Given the description of an element on the screen output the (x, y) to click on. 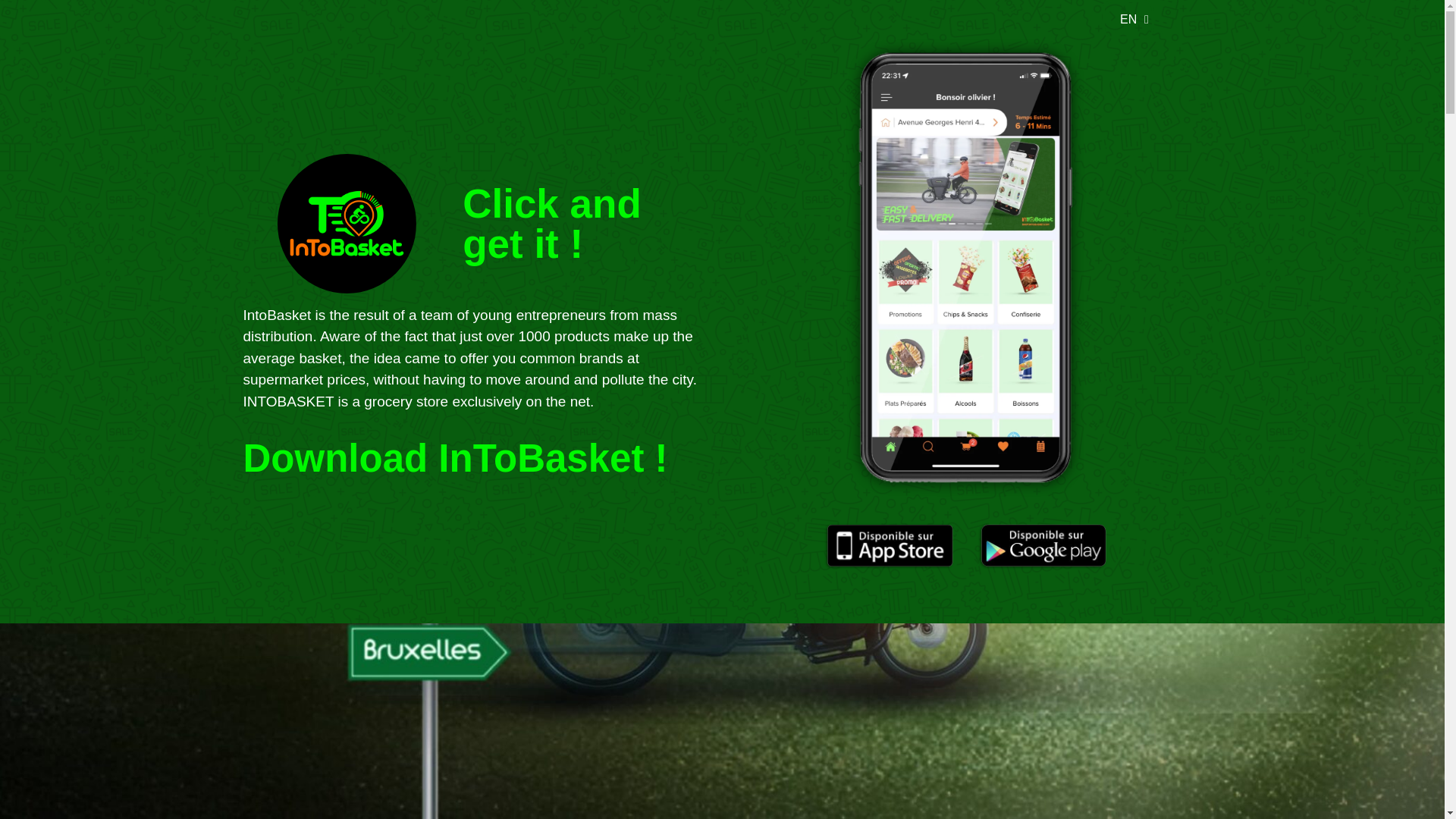
EN (1130, 18)
